Given the description of an element on the screen output the (x, y) to click on. 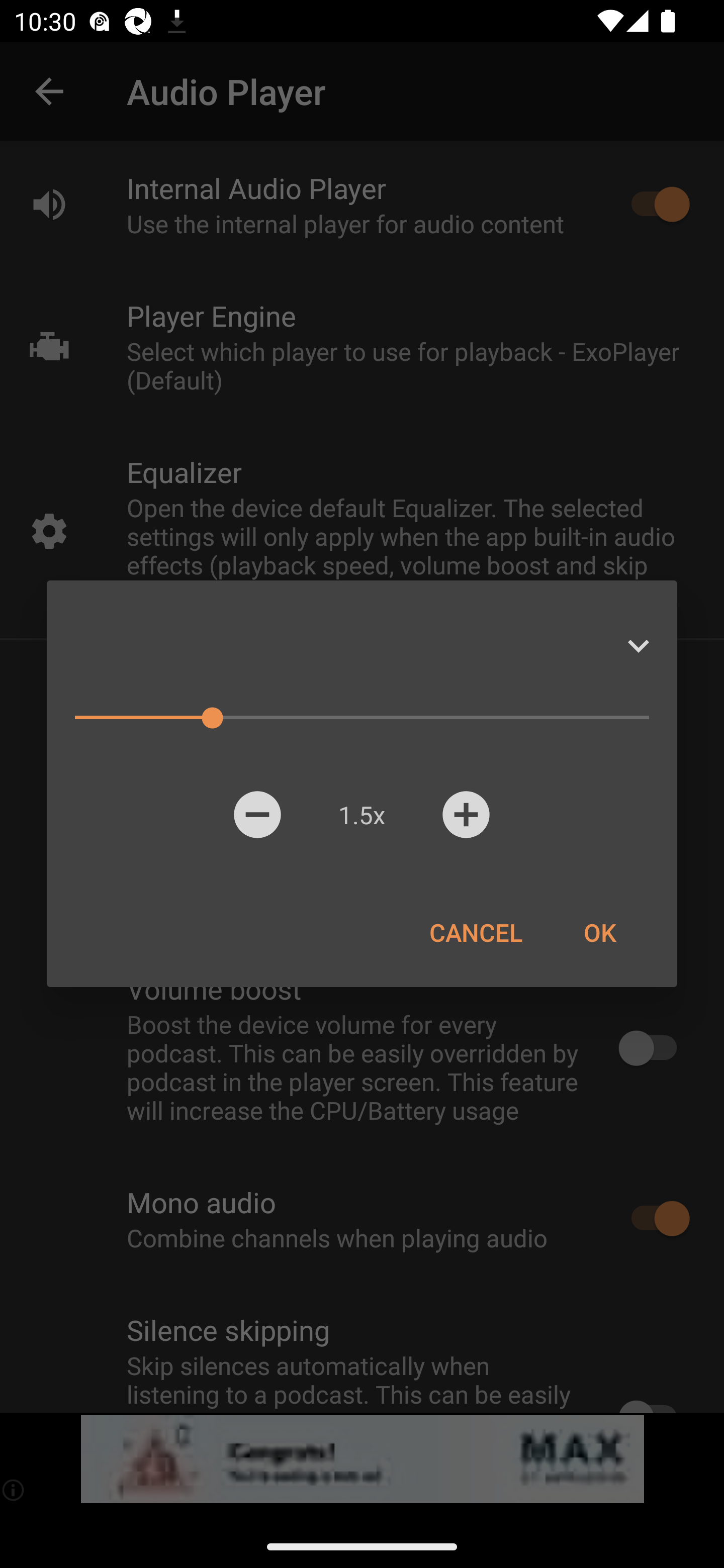
Expand (637, 645)
1.5x (361, 814)
CANCEL (475, 932)
OK (599, 932)
